Given the description of an element on the screen output the (x, y) to click on. 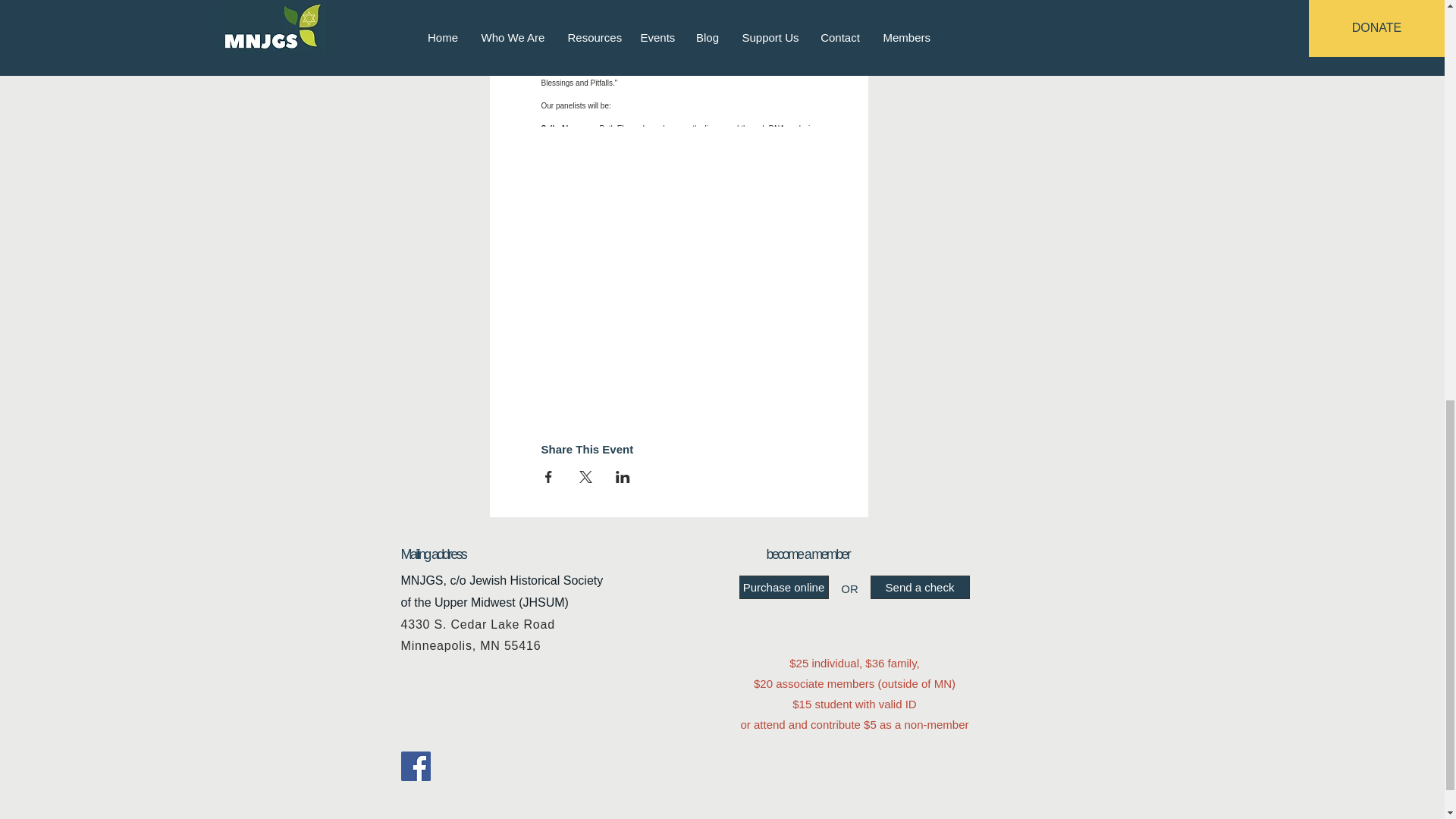
Send a check (919, 586)
Facebook Like (474, 765)
Purchase online (783, 586)
